Given the description of an element on the screen output the (x, y) to click on. 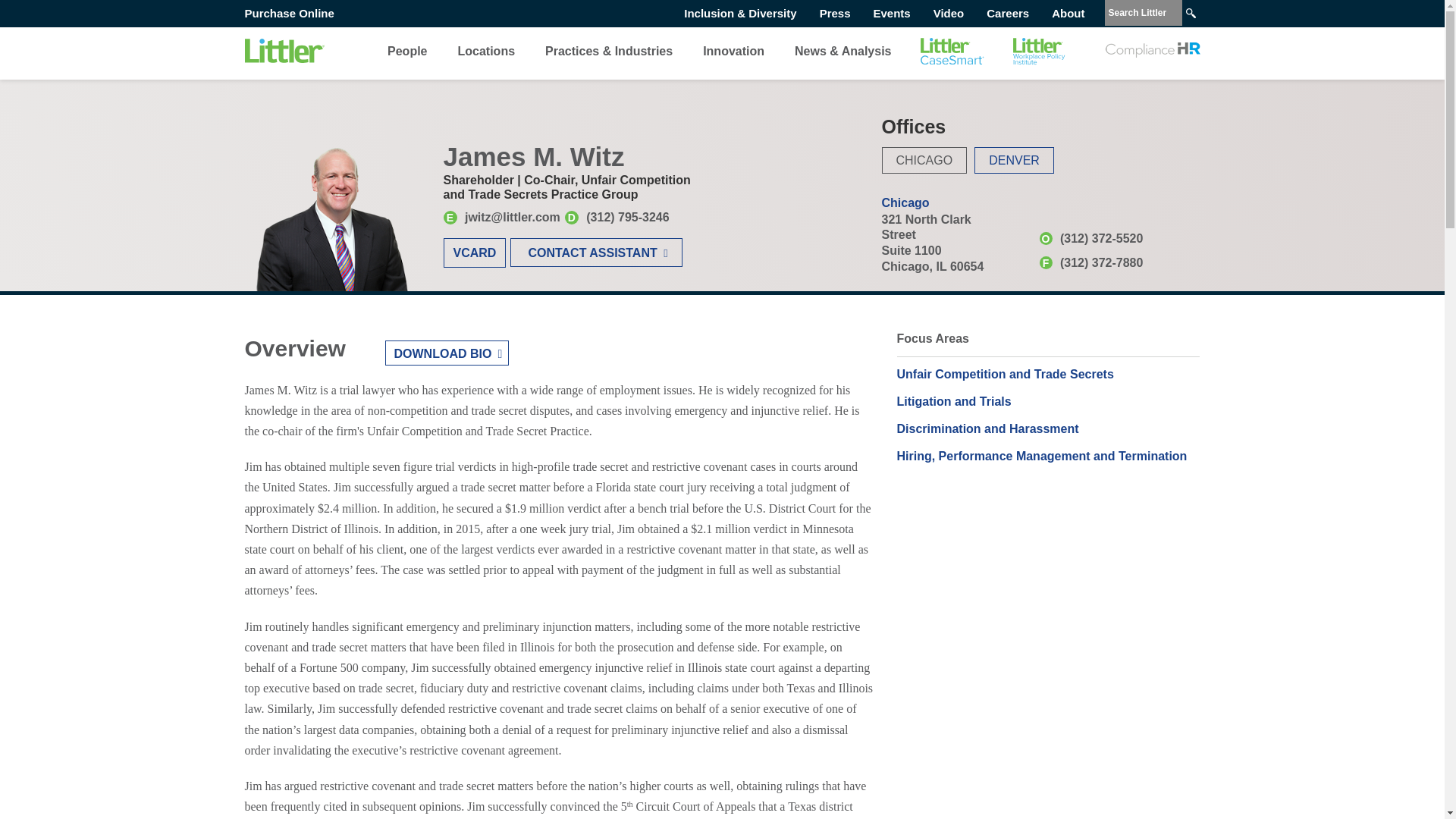
Download (447, 352)
Littler Mendelson P.C. Home (283, 51)
